Given the description of an element on the screen output the (x, y) to click on. 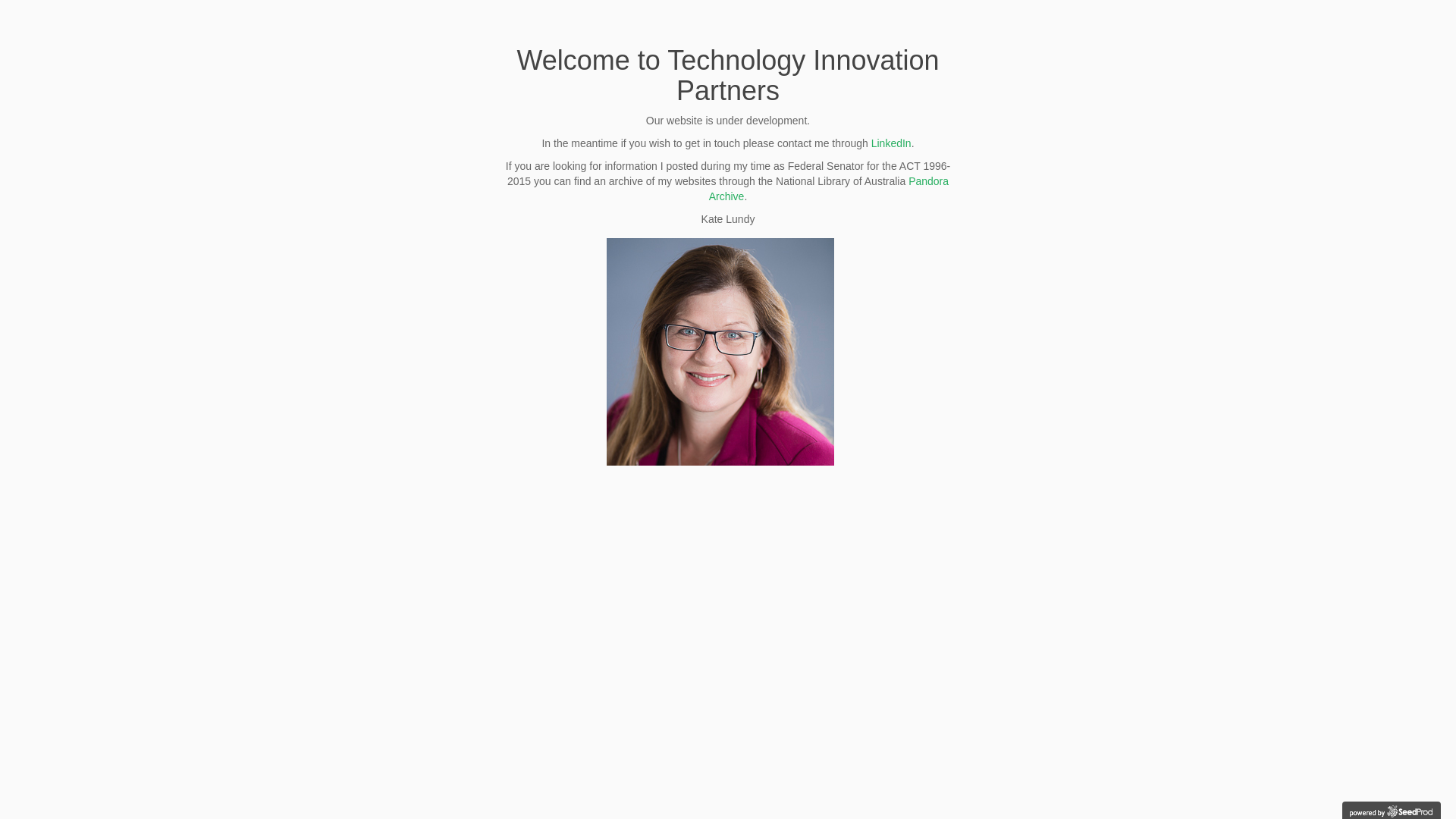
Pandora Archive Element type: text (828, 188)
LinkedIn Element type: text (891, 143)
